Given the description of an element on the screen output the (x, y) to click on. 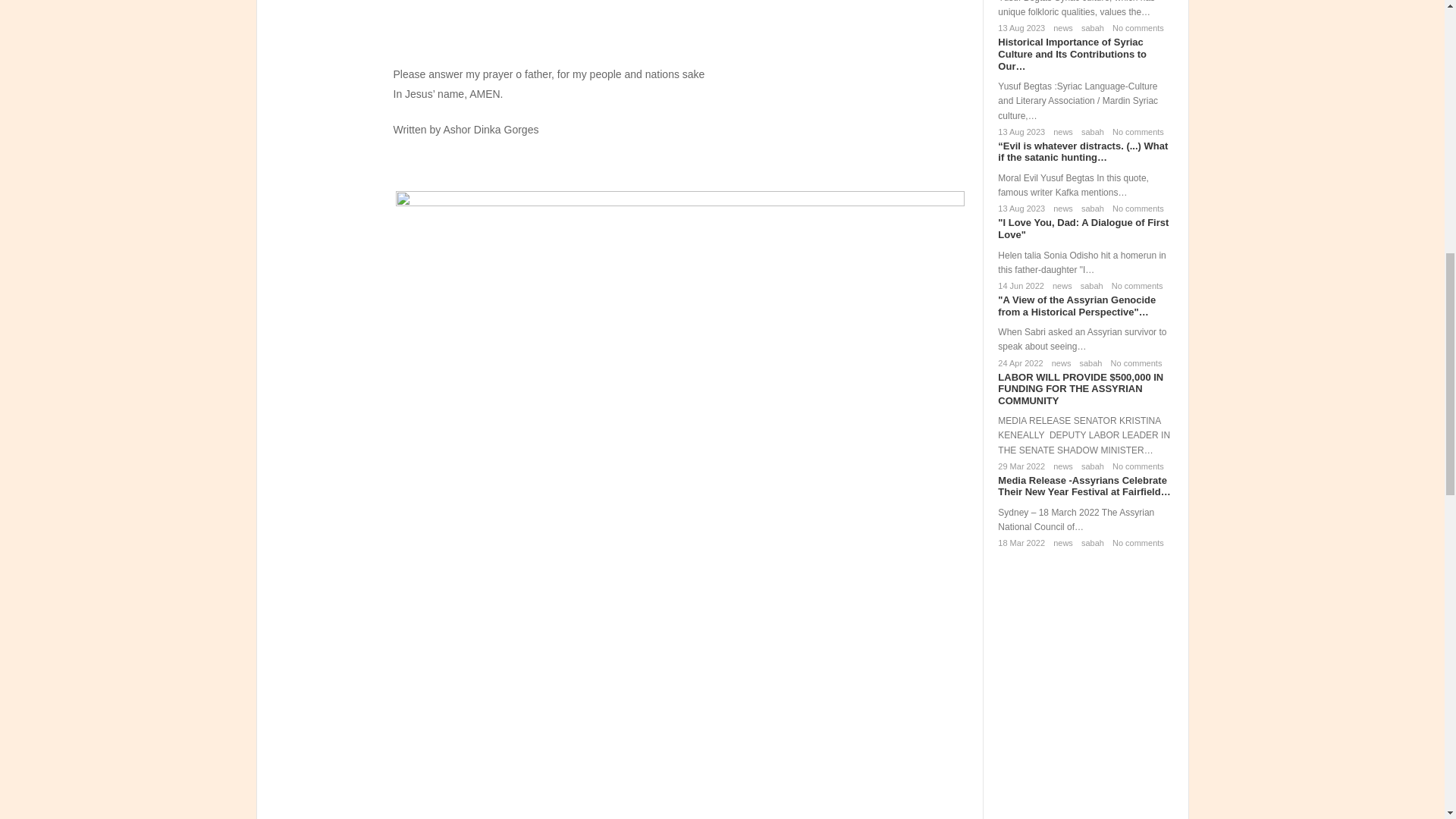
Advertisement (680, 29)
